Given the description of an element on the screen output the (x, y) to click on. 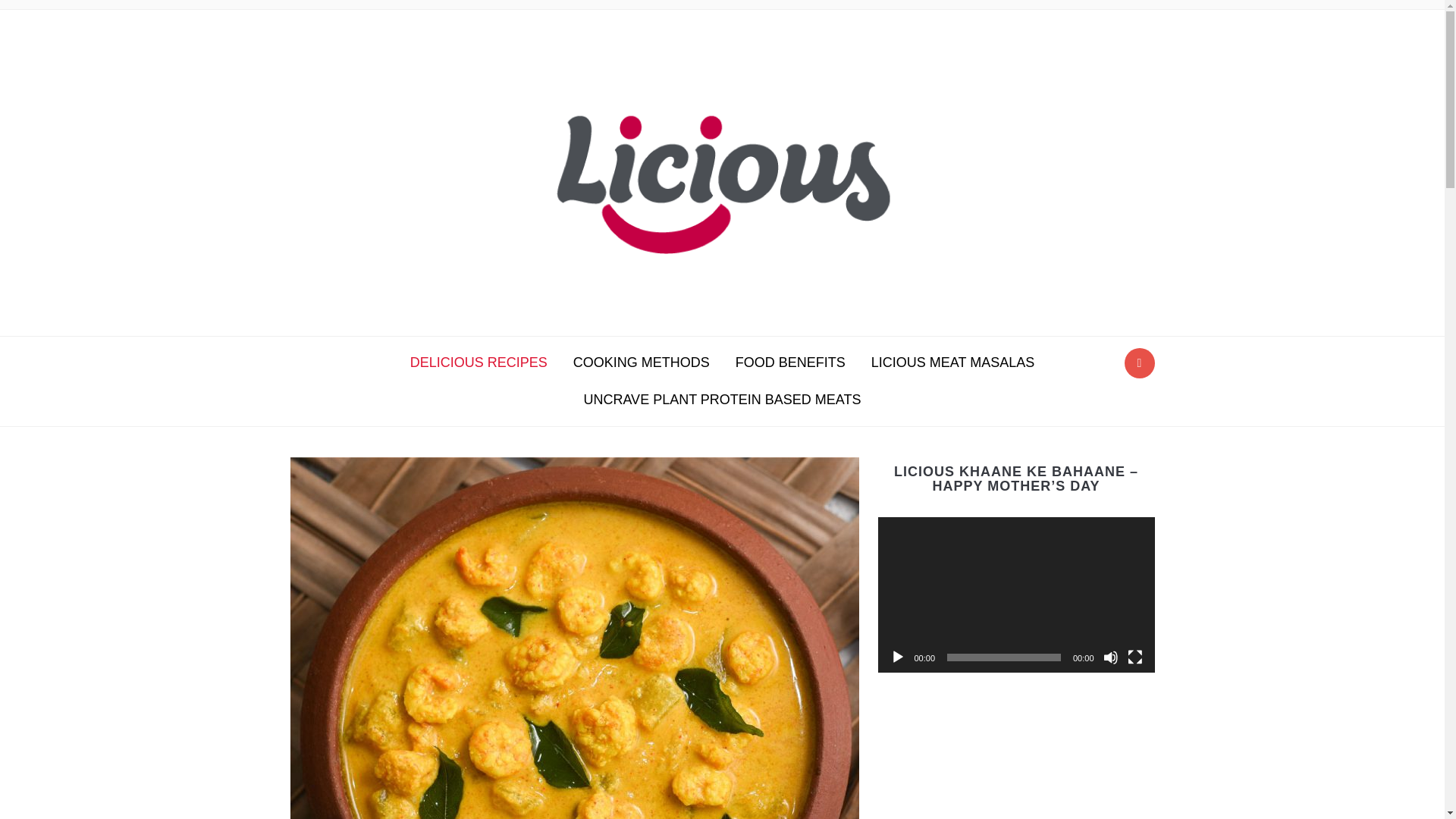
LICIOUS MEAT MASALAS (952, 362)
FOOD BENEFITS (790, 362)
DELICIOUS RECIPES (478, 362)
COOKING METHODS (641, 362)
Search (1139, 363)
Play (897, 657)
UNCRAVE PLANT PROTEIN BASED MEATS (722, 399)
